Given the description of an element on the screen output the (x, y) to click on. 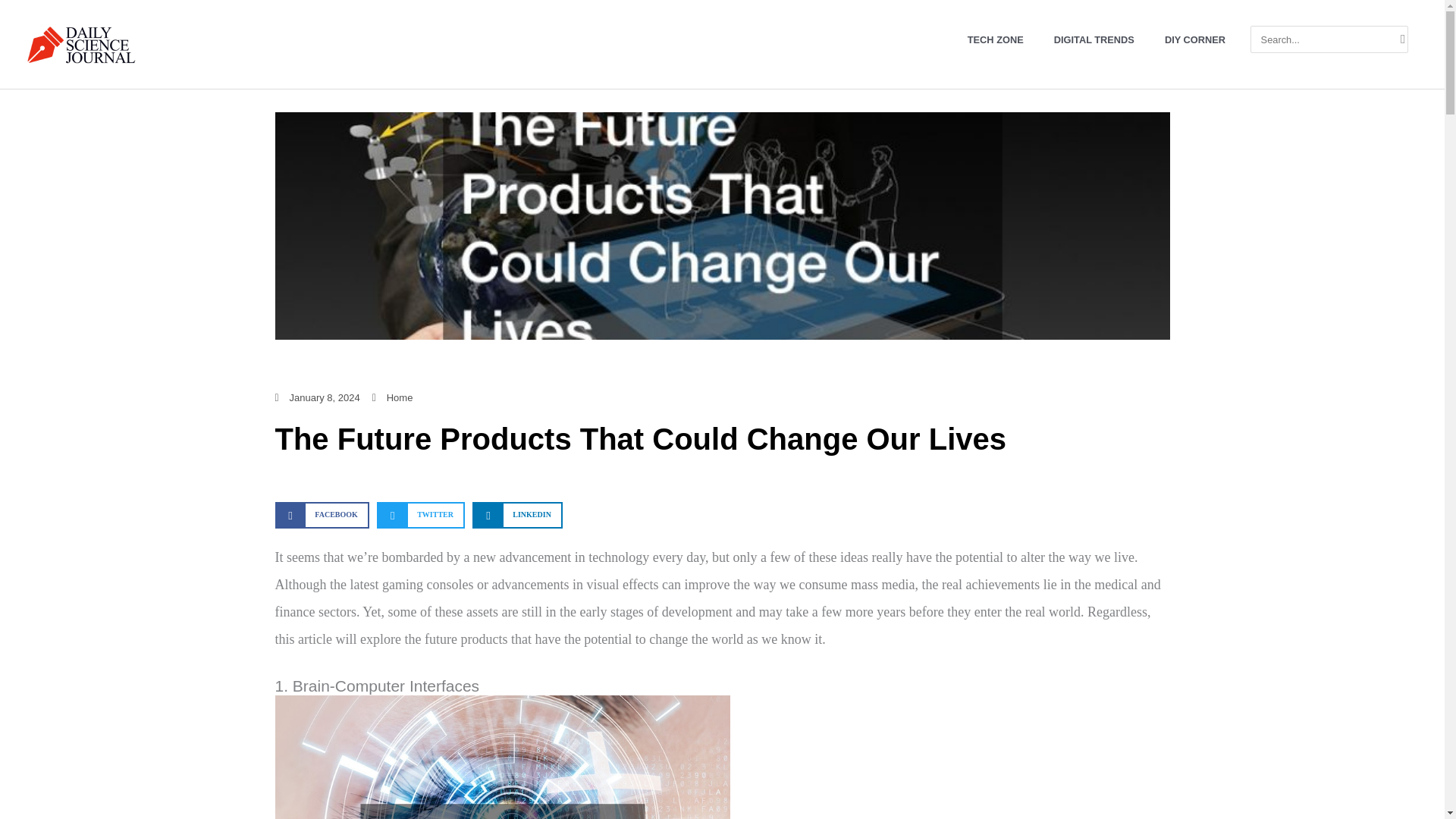
Home (400, 397)
DIGITAL TRENDS (1094, 38)
TECH ZONE (995, 38)
DIY CORNER (1195, 38)
January 8, 2024 (317, 398)
